Given the description of an element on the screen output the (x, y) to click on. 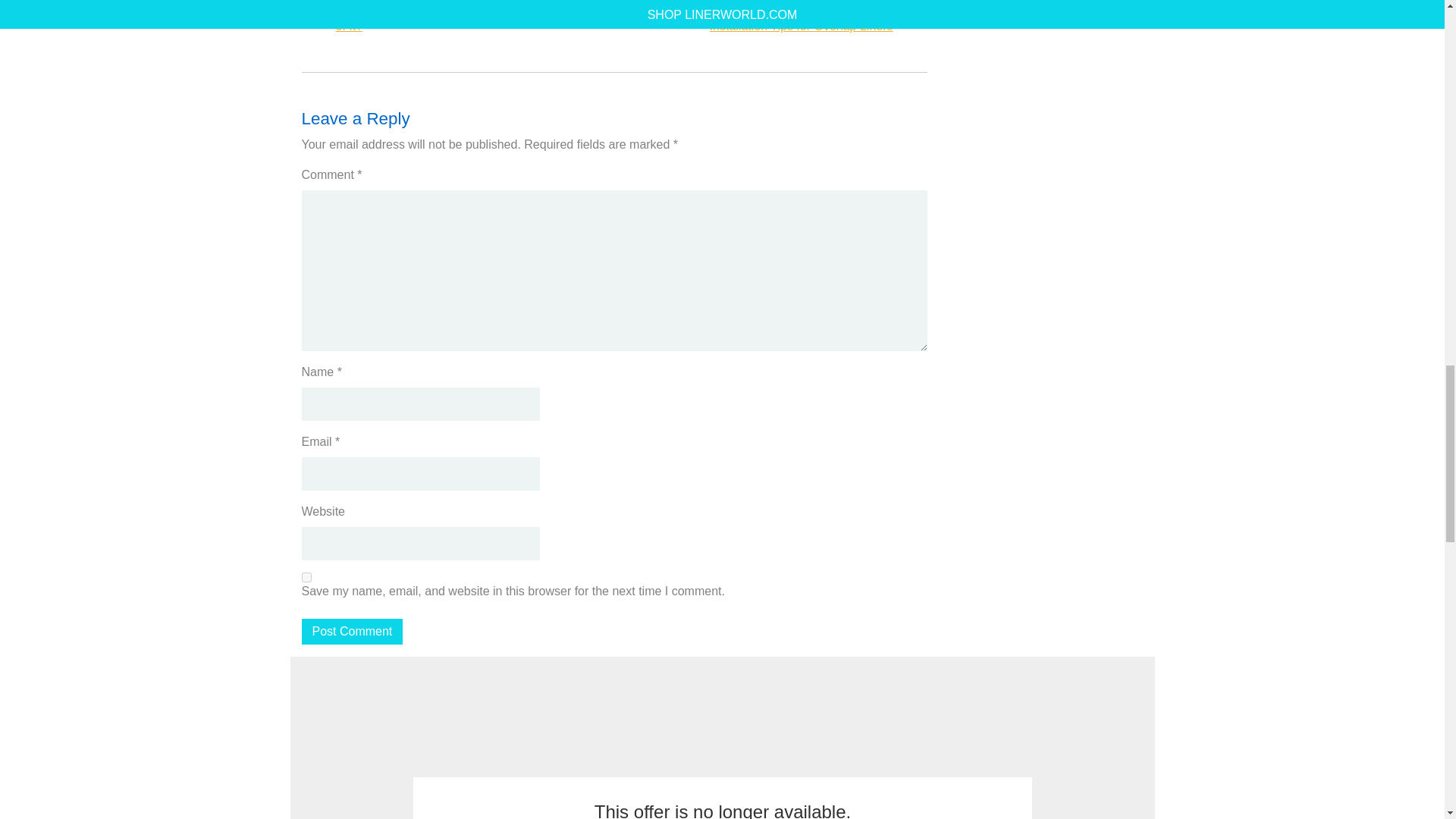
What is Pink Algae and How Can I Get Rid of It? (449, 16)
yes (306, 576)
Post Comment (352, 631)
Post Comment (352, 631)
